Given the description of an element on the screen output the (x, y) to click on. 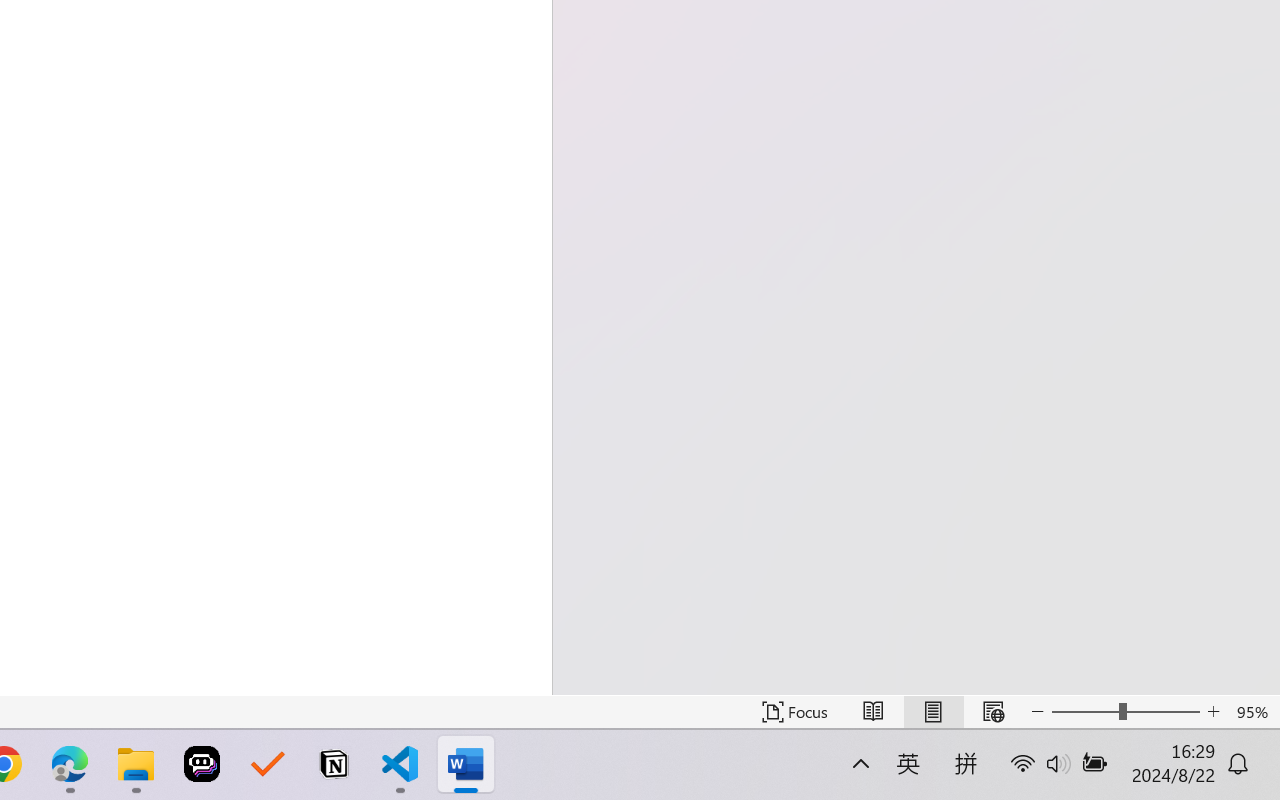
Notion (333, 764)
Zoom 95% (1253, 712)
